Given the description of an element on the screen output the (x, y) to click on. 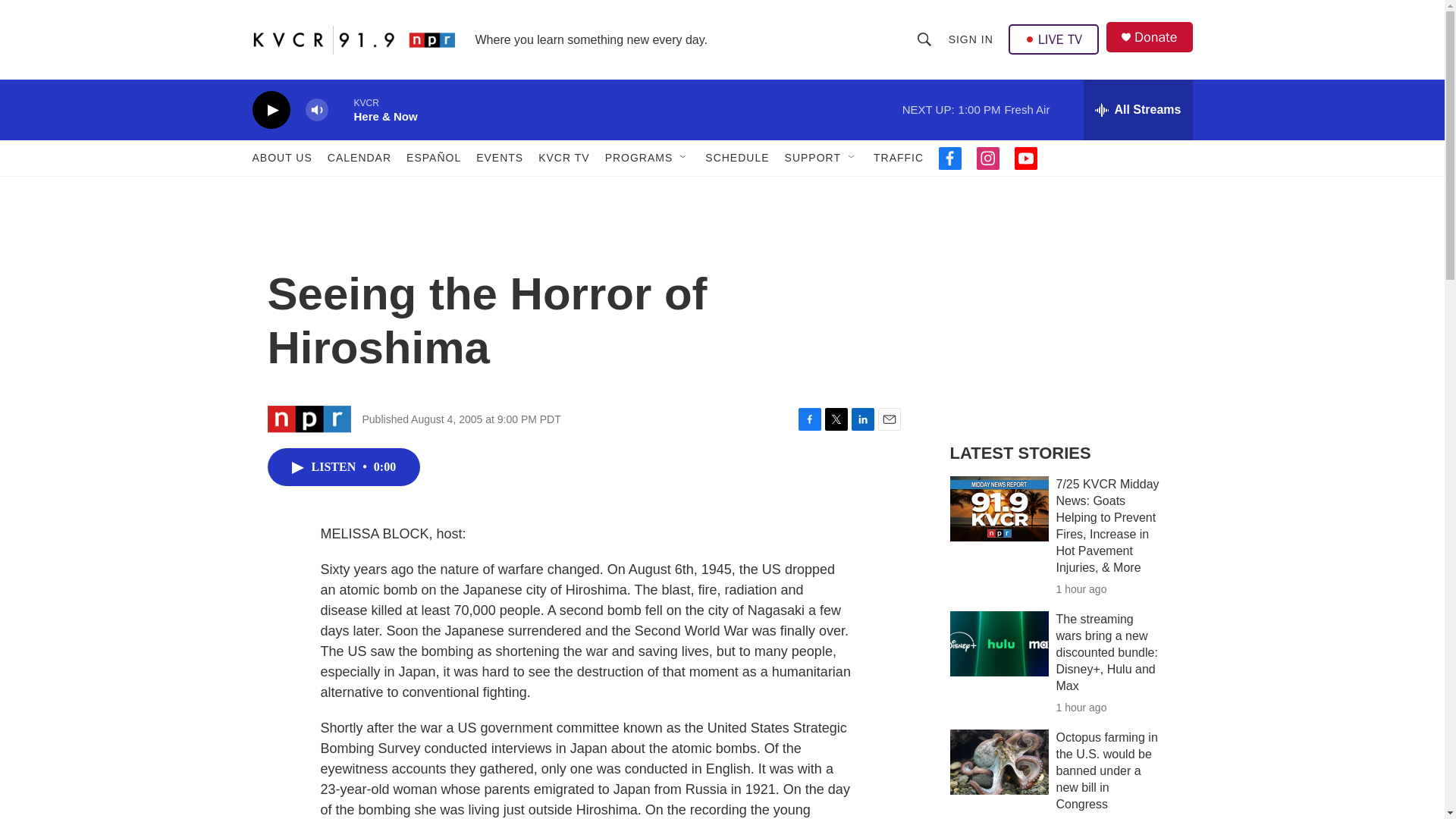
3rd party ad content (1062, 316)
